Given the description of an element on the screen output the (x, y) to click on. 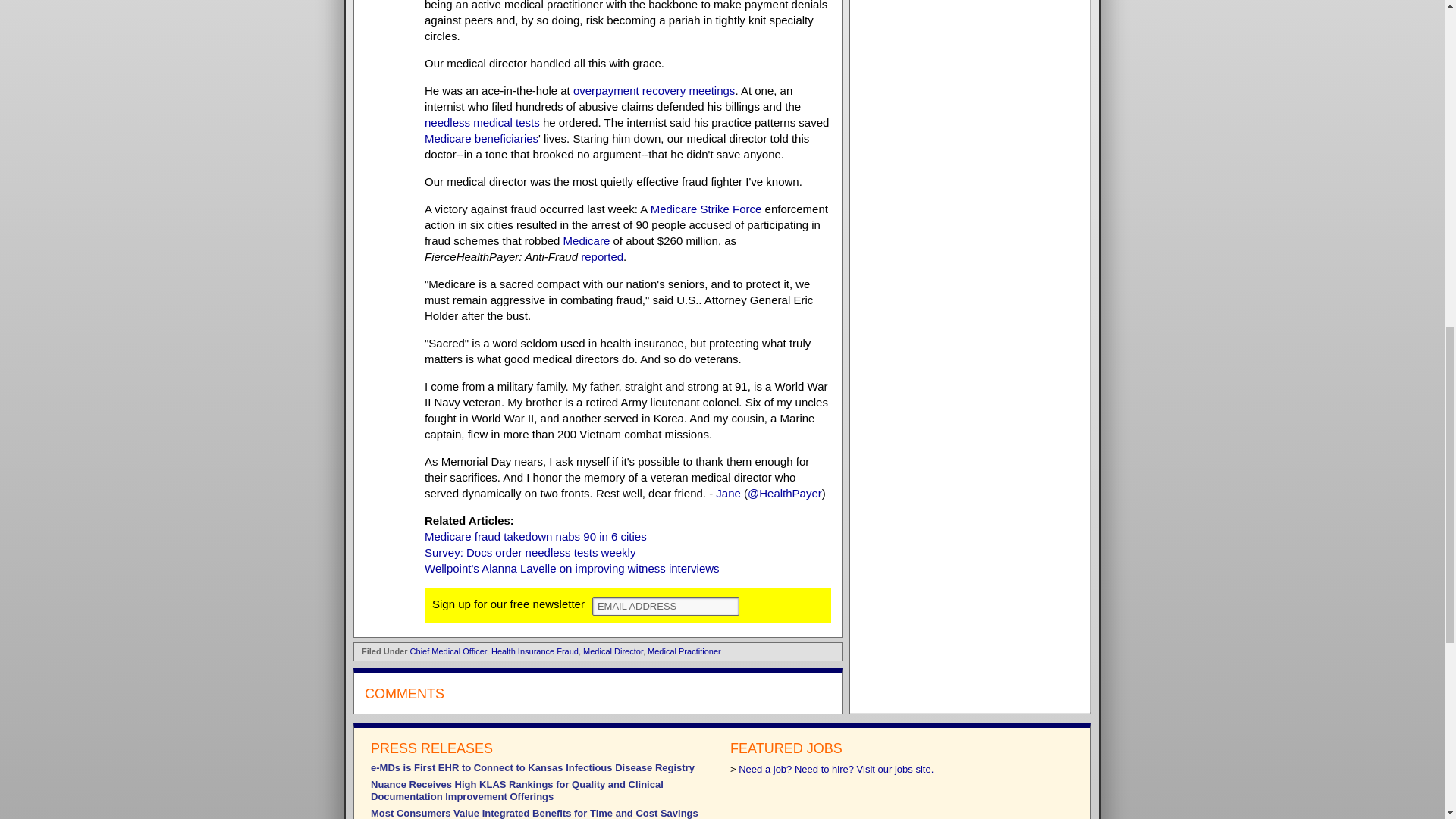
EMAIL ADDRESS (665, 606)
SIGN ME UP (779, 605)
EMAIL ADDRESS (665, 606)
SIGN ME UP (779, 605)
